Given the description of an element on the screen output the (x, y) to click on. 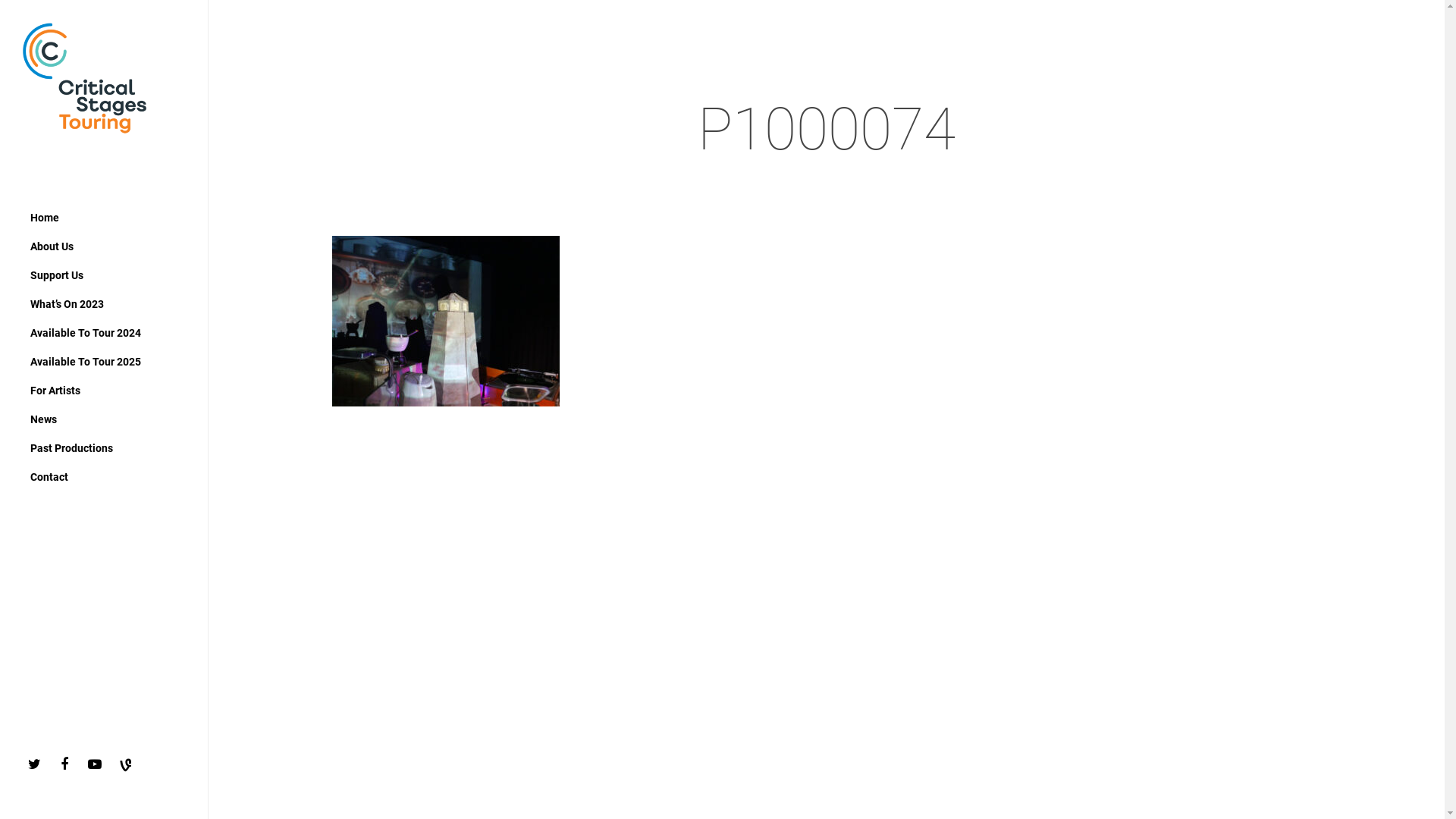
Available To Tour 2024 Element type: text (85, 332)
Support Us Element type: text (56, 274)
For Artists Element type: text (54, 390)
Available To Tour 2025 Element type: text (85, 361)
News Element type: text (43, 418)
Contact Element type: text (48, 476)
Home Element type: text (44, 217)
Past Productions Element type: text (71, 447)
About Us Element type: text (51, 246)
